Given the description of an element on the screen output the (x, y) to click on. 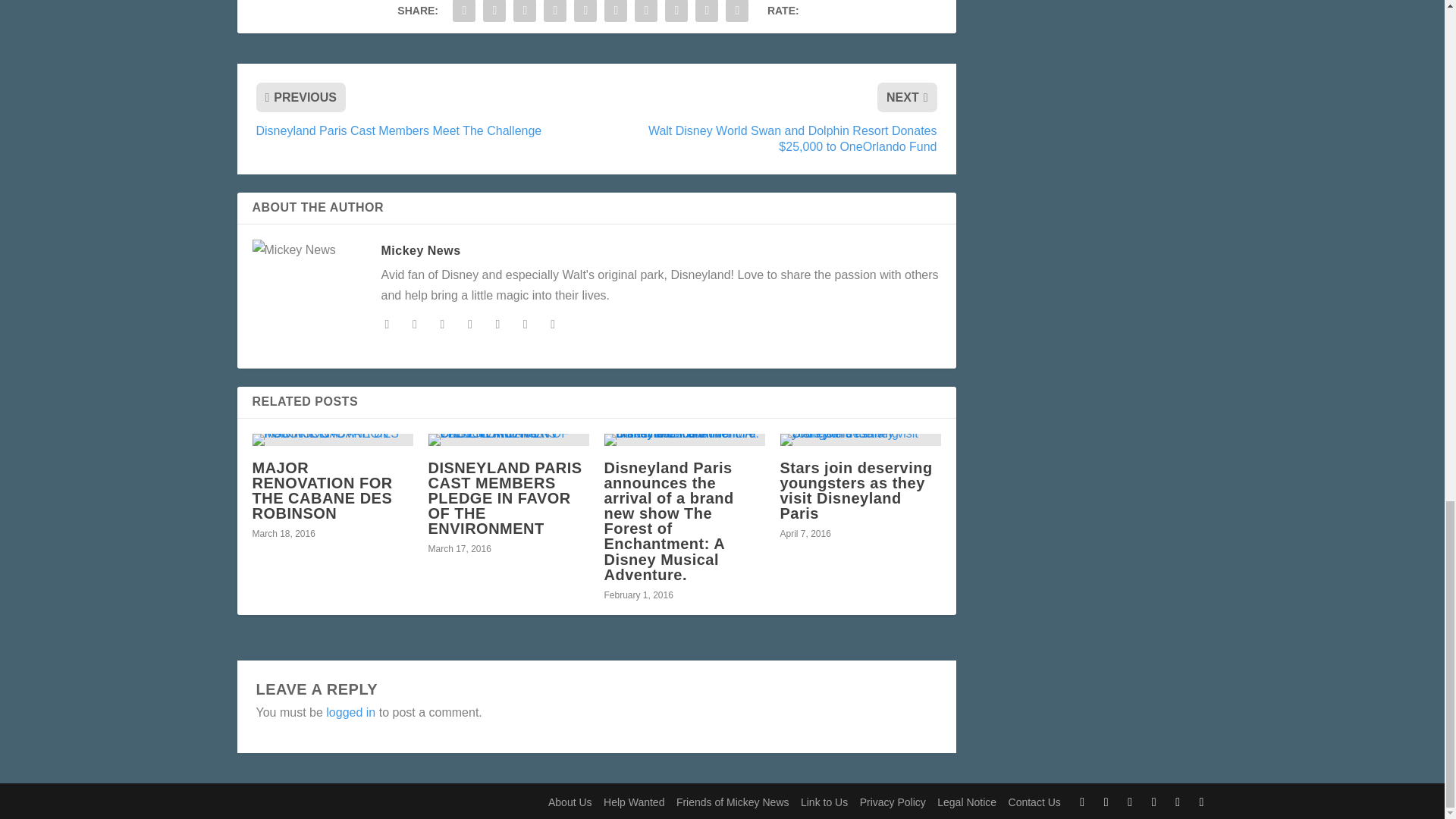
View all posts by Mickey News (420, 250)
